Given the description of an element on the screen output the (x, y) to click on. 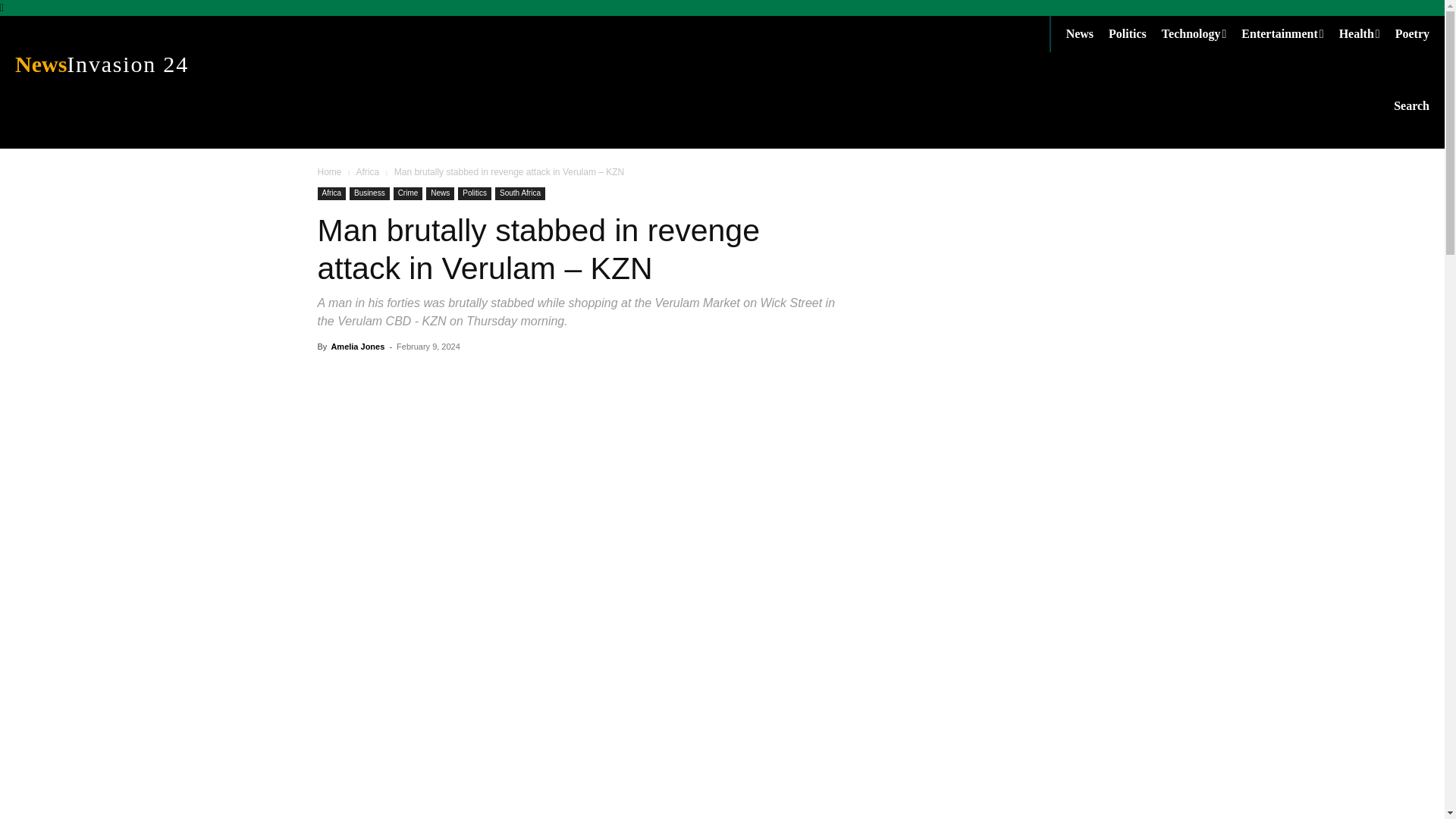
Technology (1201, 33)
Search (1411, 105)
Entertainment (1289, 33)
News (1086, 33)
Health (1366, 33)
View all posts in Africa (173, 63)
Politics (366, 172)
